Given the description of an element on the screen output the (x, y) to click on. 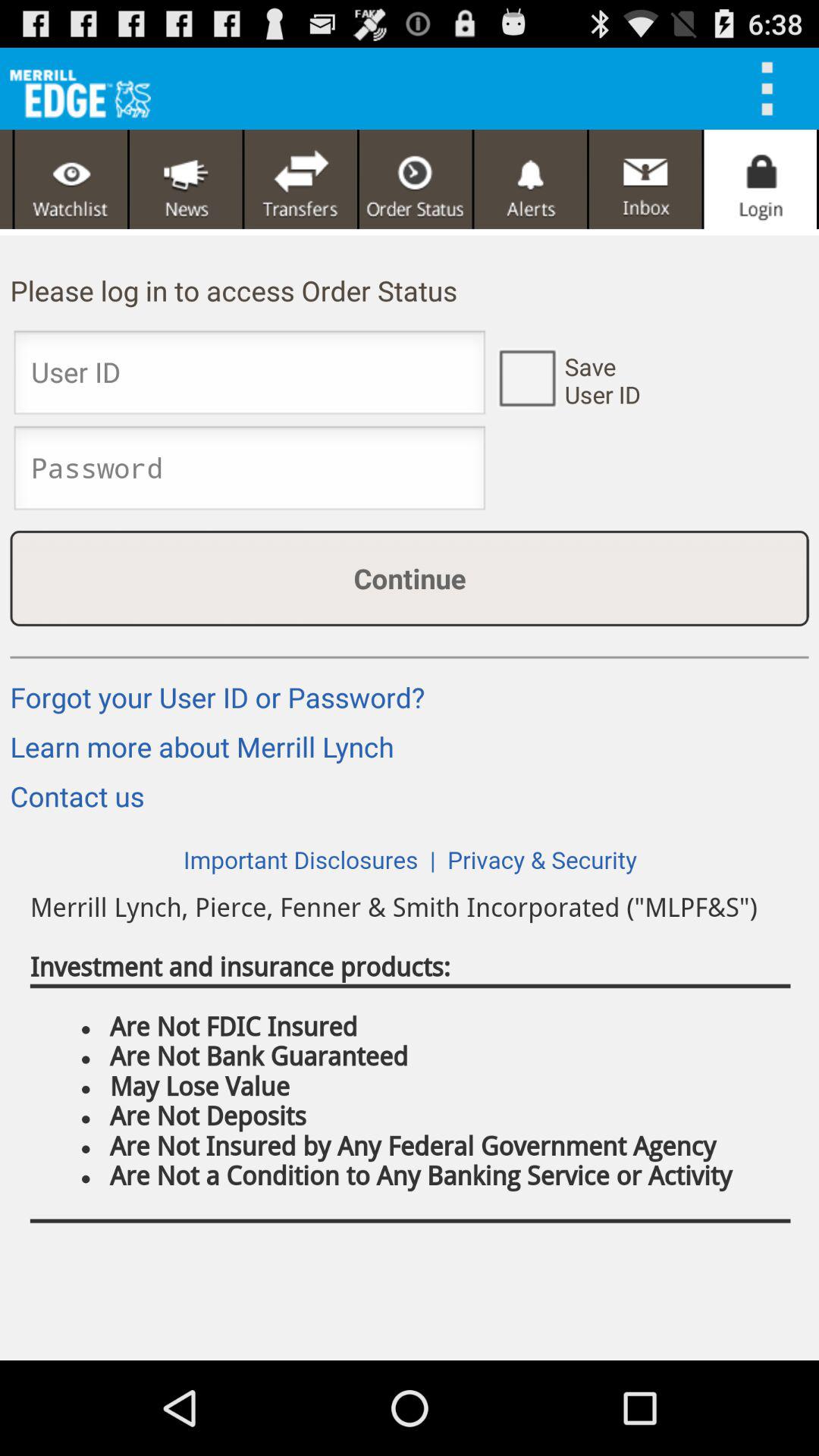
menu option (772, 88)
